Given the description of an element on the screen output the (x, y) to click on. 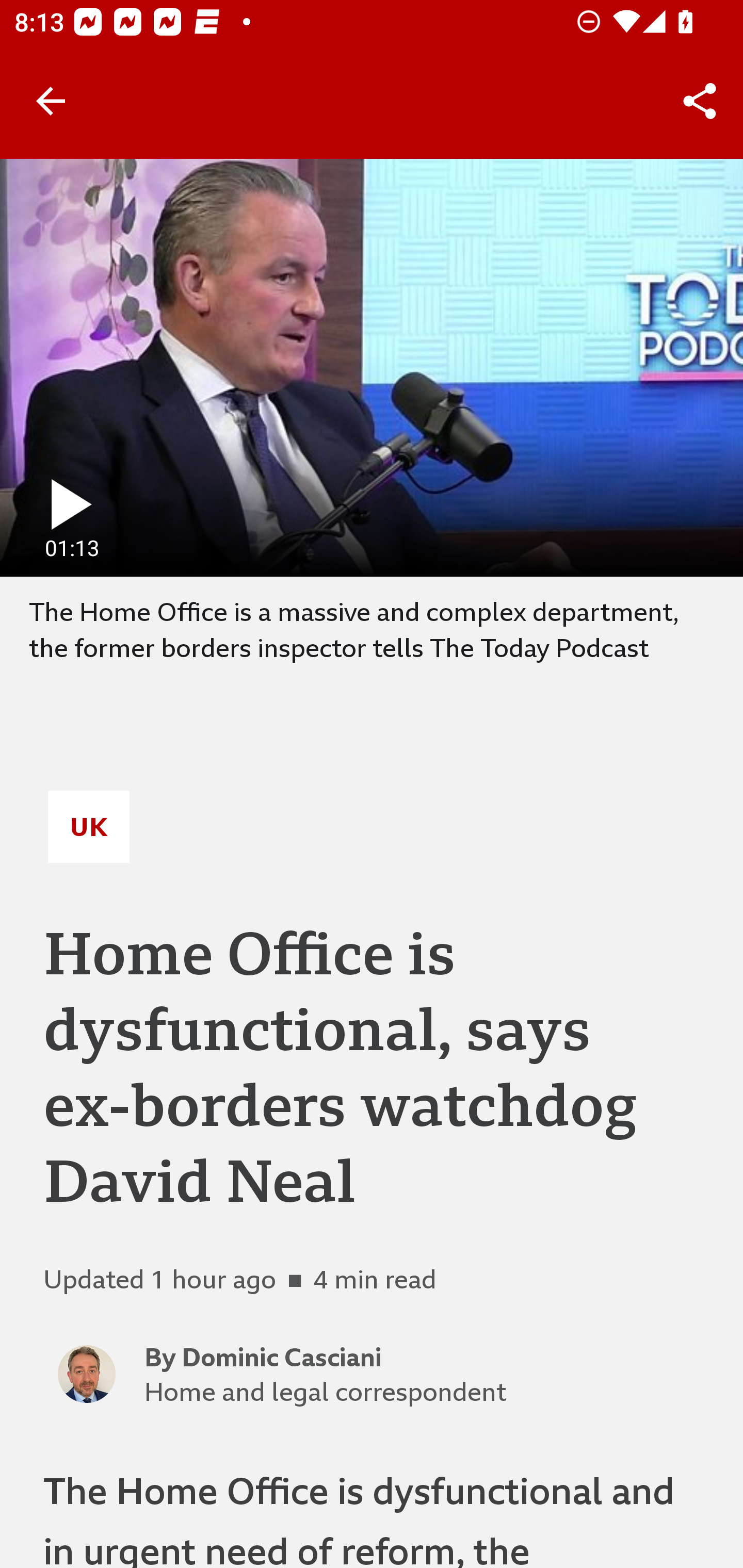
Back (50, 101)
Share (699, 101)
play fullscreen 01:13 1 minute, 13 seconds (371, 367)
UK (88, 827)
